Given the description of an element on the screen output the (x, y) to click on. 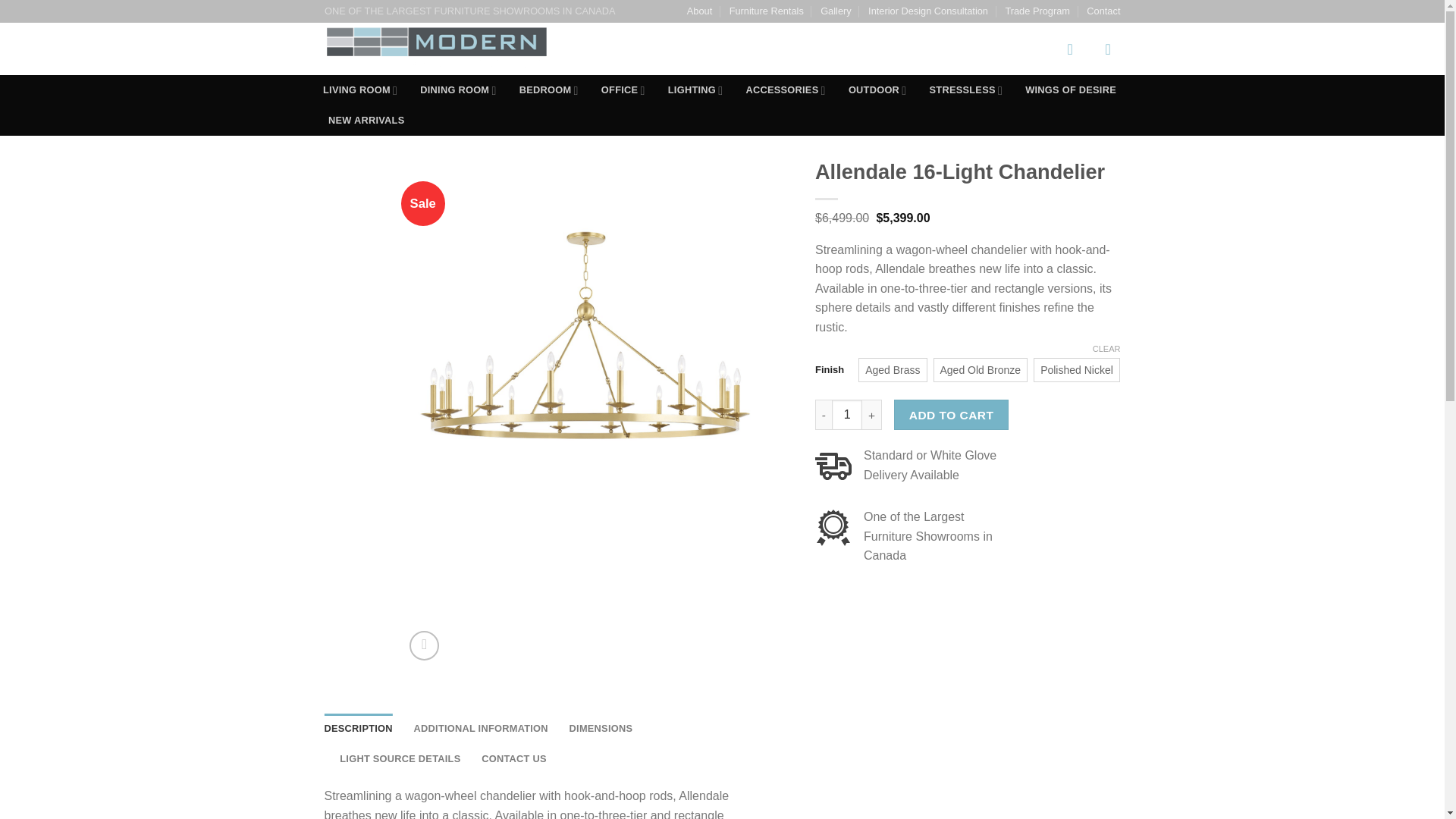
VISIT OUR SHOWROOM (683, 48)
Interior Design Consultation (927, 11)
Polished Nickel (1076, 369)
About (699, 11)
Aged Brass (892, 369)
1 (846, 414)
Search (1029, 49)
Zoom (424, 645)
Gallery (836, 11)
Contact (1102, 11)
